Given the description of an element on the screen output the (x, y) to click on. 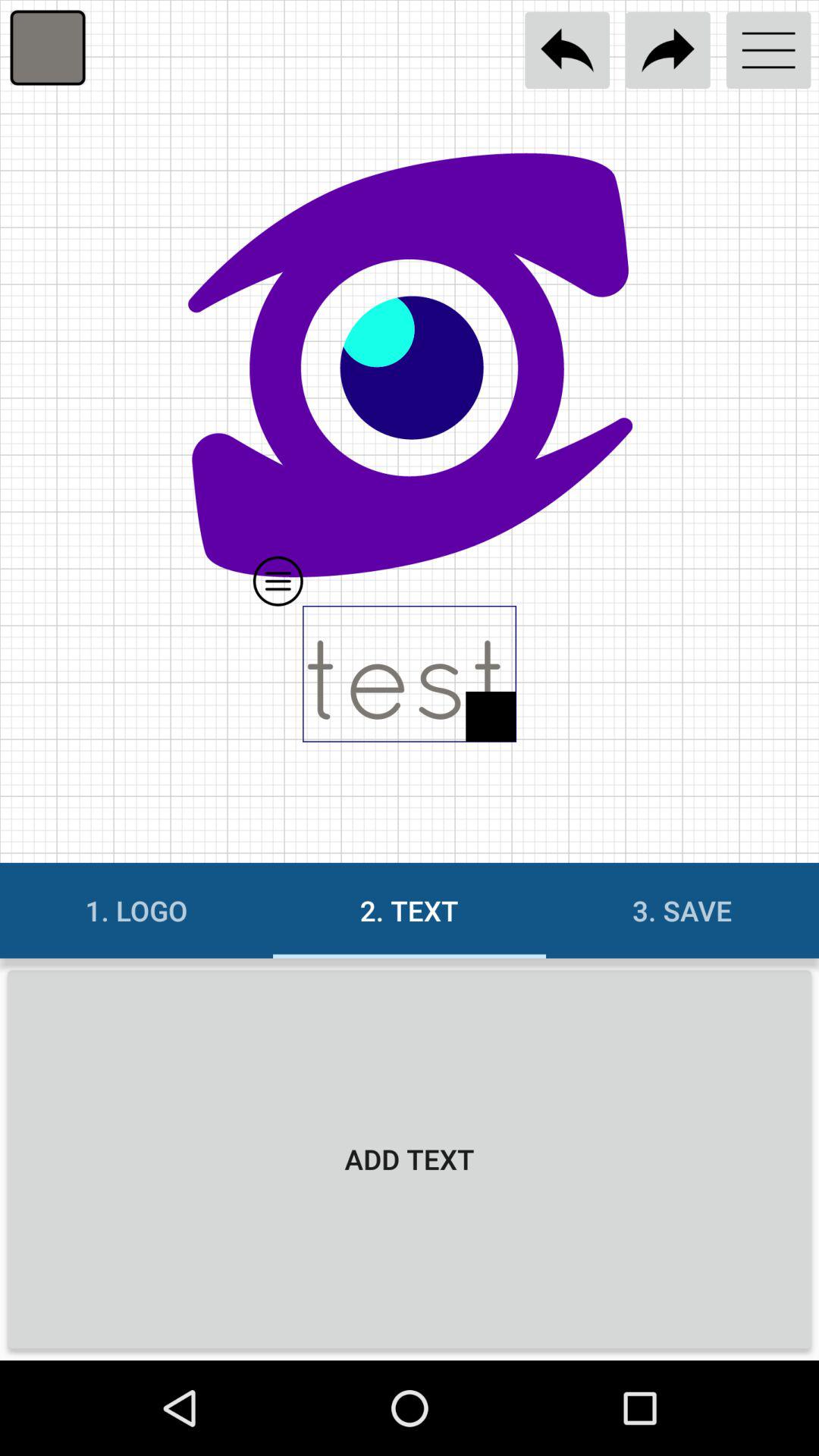
go to next (667, 50)
